Given the description of an element on the screen output the (x, y) to click on. 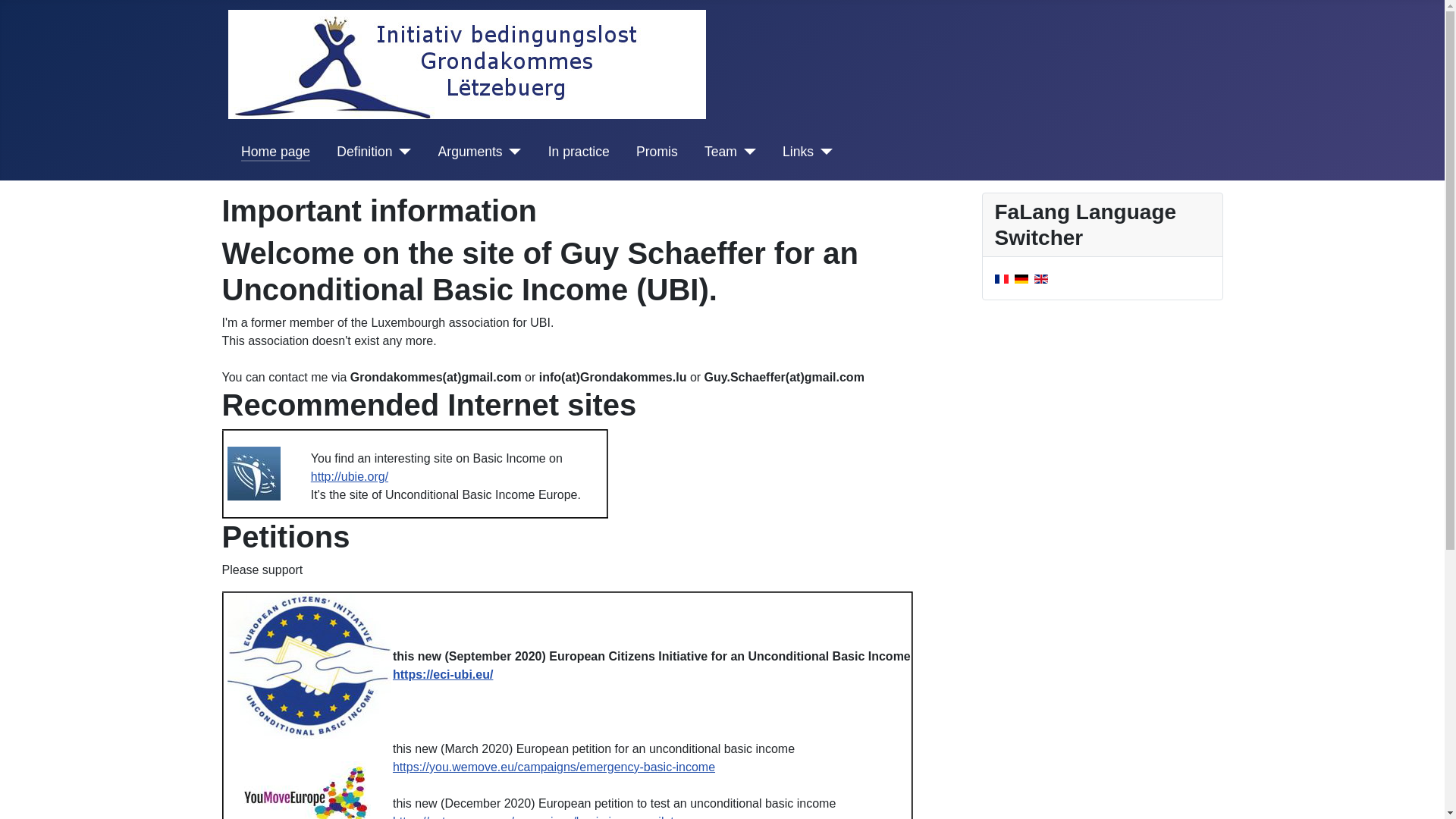
European Citizens Initiataive (309, 665)
Definition (363, 151)
Team (720, 151)
Home page (275, 151)
Deutsch (1020, 278)
You Move Europe (307, 790)
Links (798, 151)
UBIE.org (254, 473)
In practice (579, 151)
Arguments (470, 151)
Promis (657, 151)
